Given the description of an element on the screen output the (x, y) to click on. 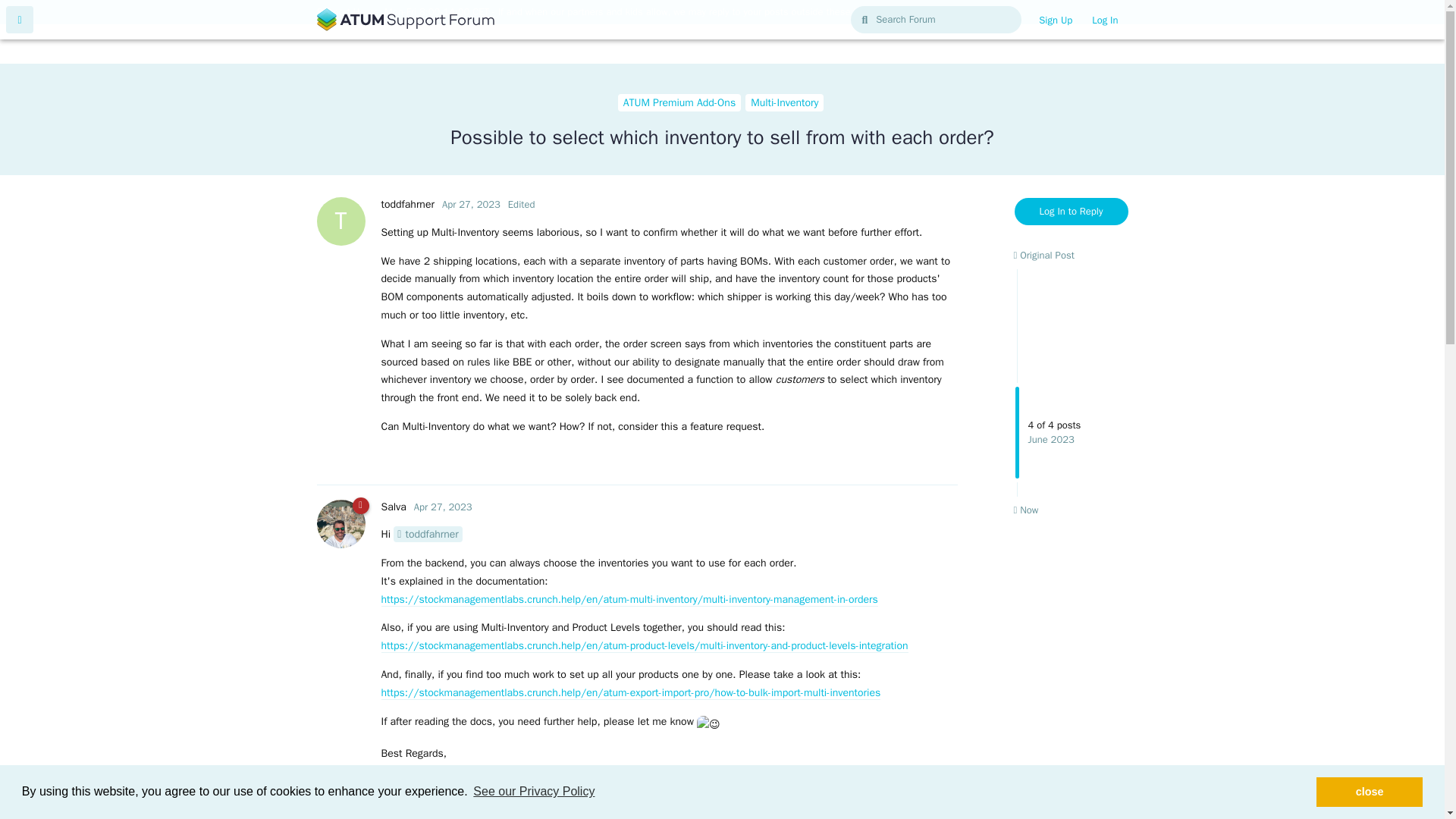
Please, leave any Multi-Inventory comments here. (784, 103)
Now (406, 204)
Log In (1025, 509)
close (1103, 19)
See our Privacy Policy (1369, 791)
Thursday, April 27, 2023 2:10 PM (533, 791)
Apr 27, 2023 (442, 506)
Thursday, April 27, 2023 1:42 AM (442, 506)
Sign Up (471, 204)
Apr 27, 2023 (1071, 382)
Log In to Reply (1055, 19)
ATUM Premium Add-Ons (471, 204)
